Given the description of an element on the screen output the (x, y) to click on. 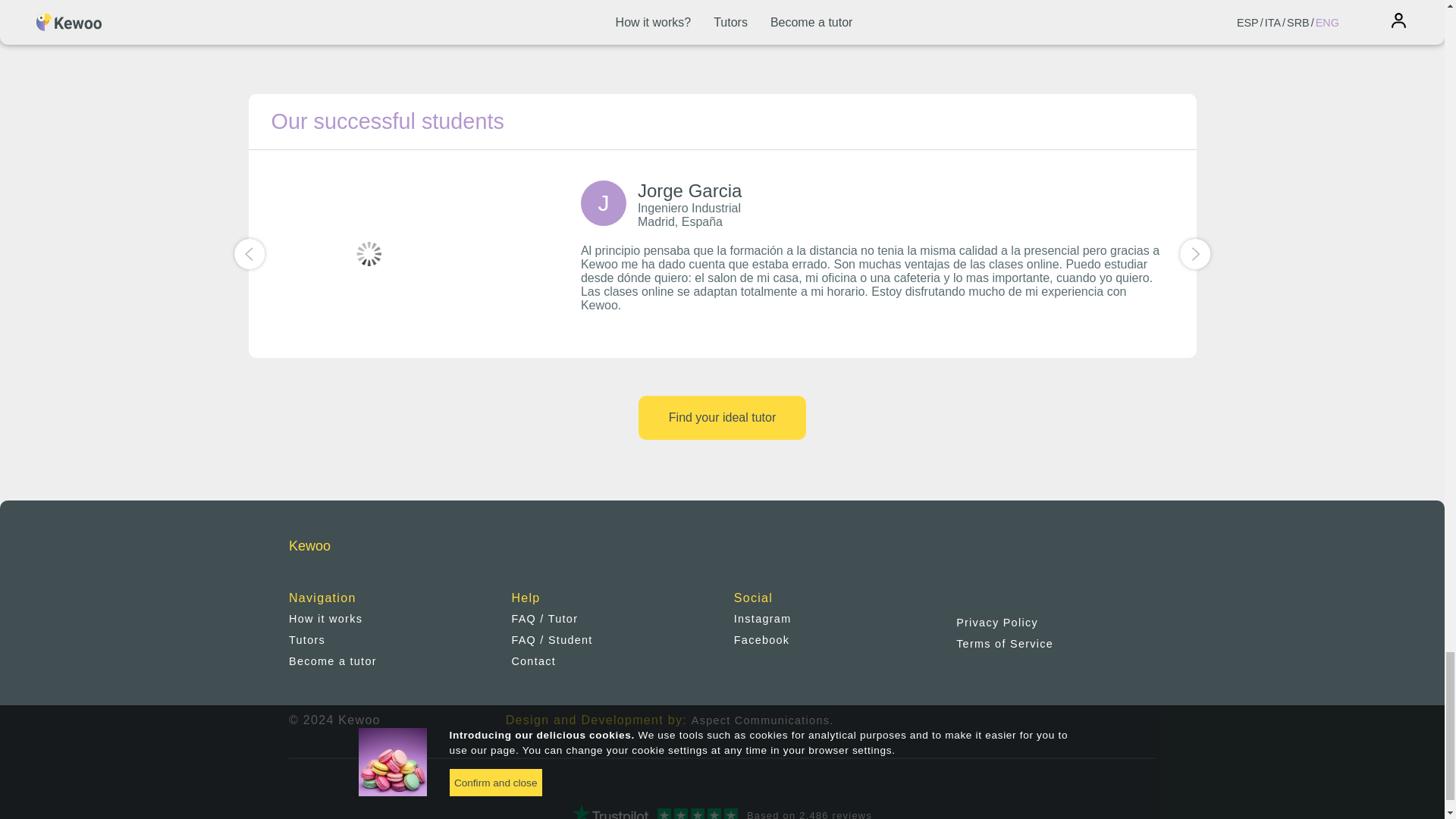
Instagram (762, 618)
Tutors (306, 639)
Contact (533, 661)
Become a tutor (831, 1)
Find your ideal tutor (722, 417)
Become a tutor (332, 661)
How it works (325, 618)
